Given the description of an element on the screen output the (x, y) to click on. 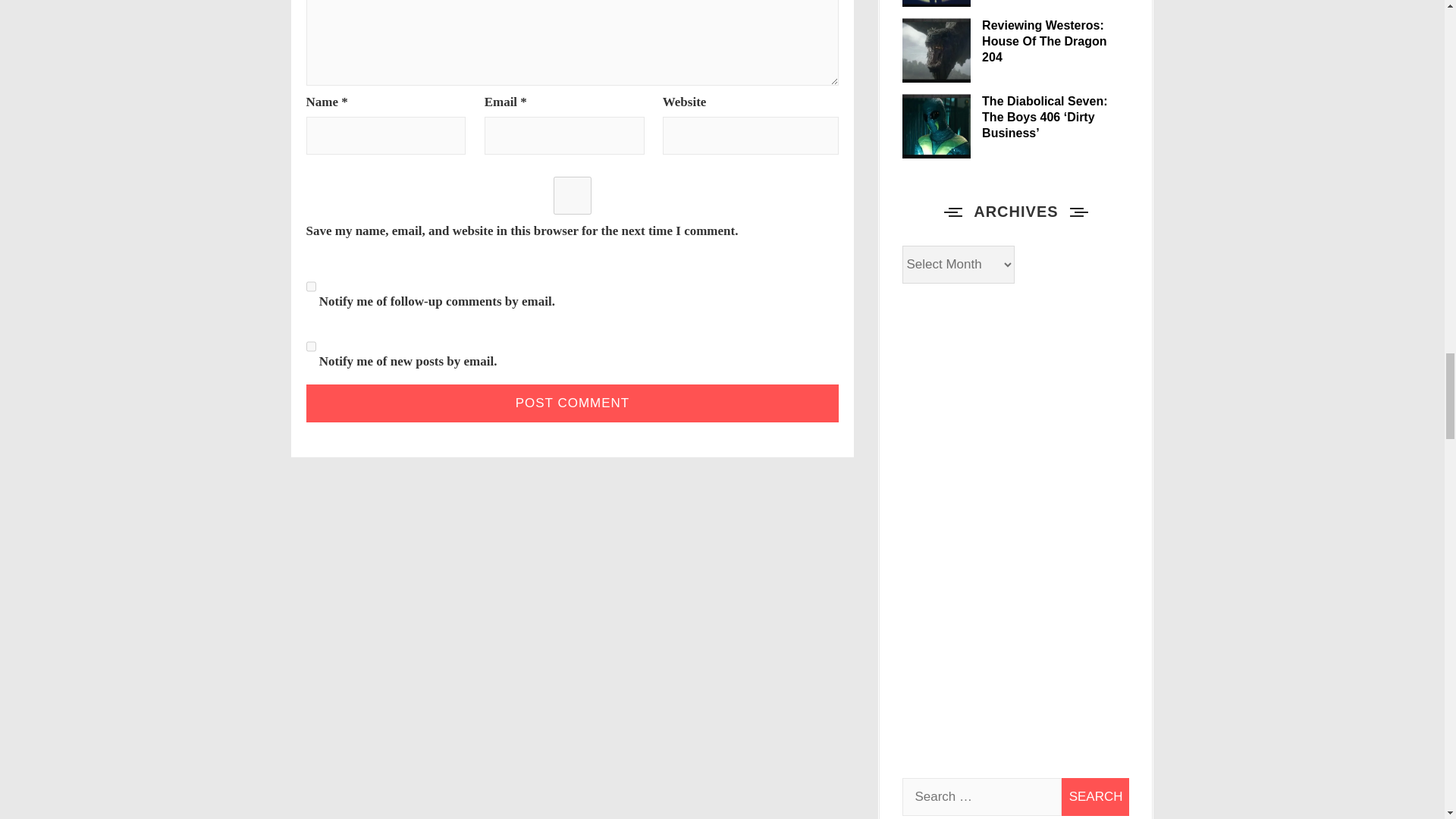
Search (1095, 796)
Post Comment (572, 403)
subscribe (310, 286)
Search (1095, 796)
subscribe (310, 346)
yes (572, 195)
